Given the description of an element on the screen output the (x, y) to click on. 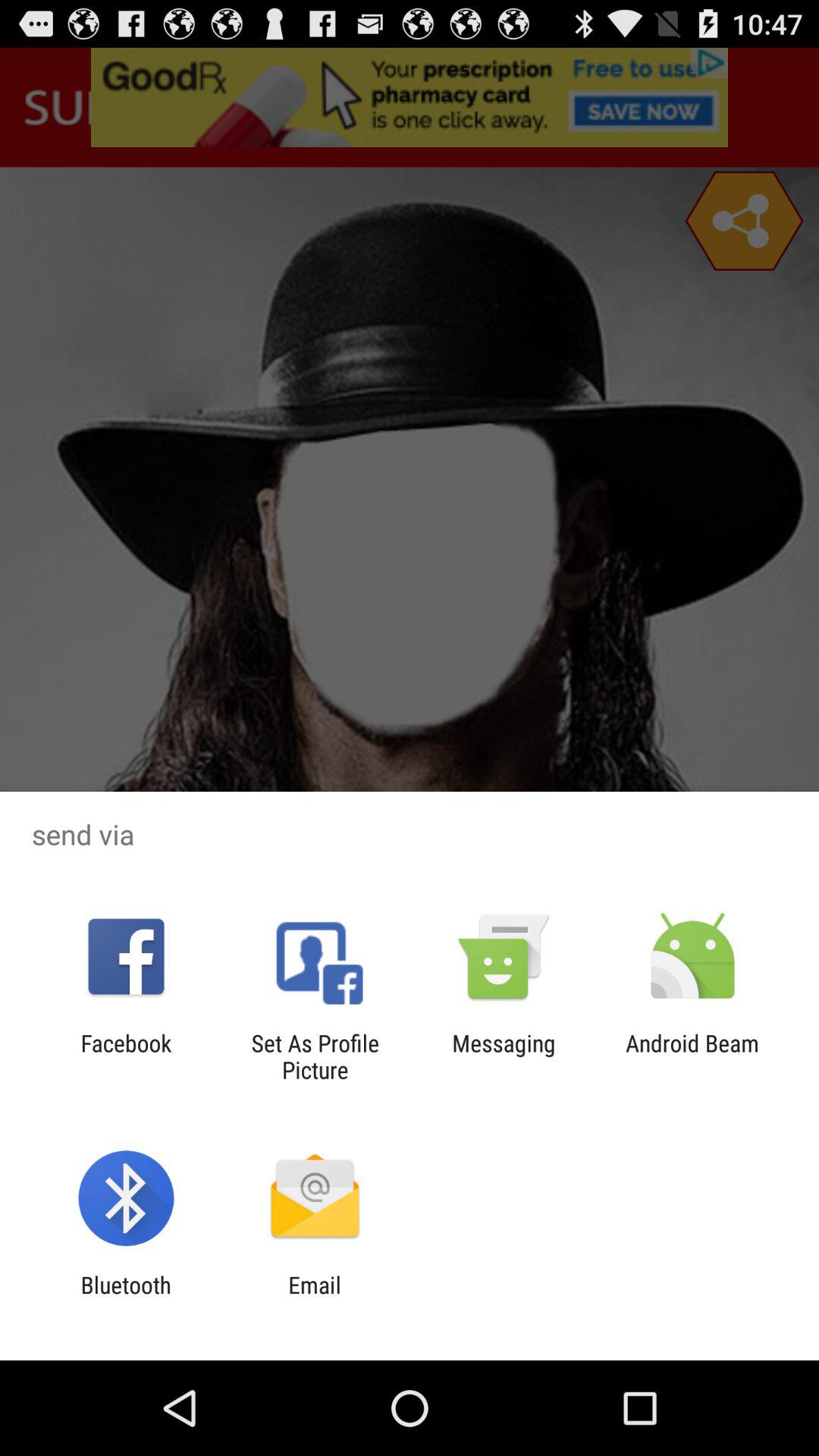
flip until the facebook item (125, 1056)
